Given the description of an element on the screen output the (x, y) to click on. 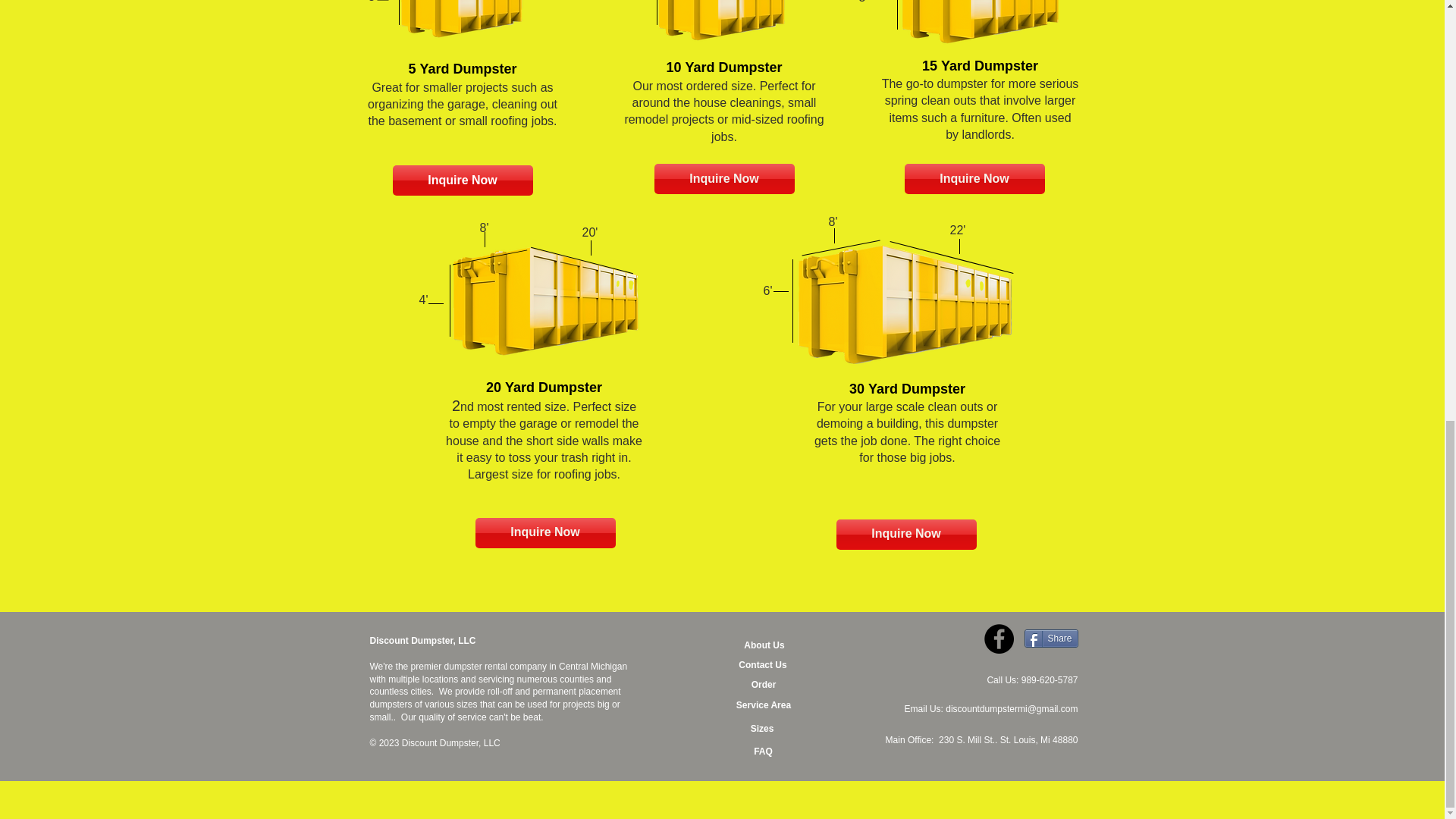
Inquire Now (973, 178)
Service Area (763, 704)
About Us (763, 645)
Order (763, 684)
Inquire Now (544, 532)
Inquire Now (905, 534)
Share (1050, 638)
Sizes (761, 728)
Contact Us (762, 665)
Inquire Now (723, 178)
